Given the description of an element on the screen output the (x, y) to click on. 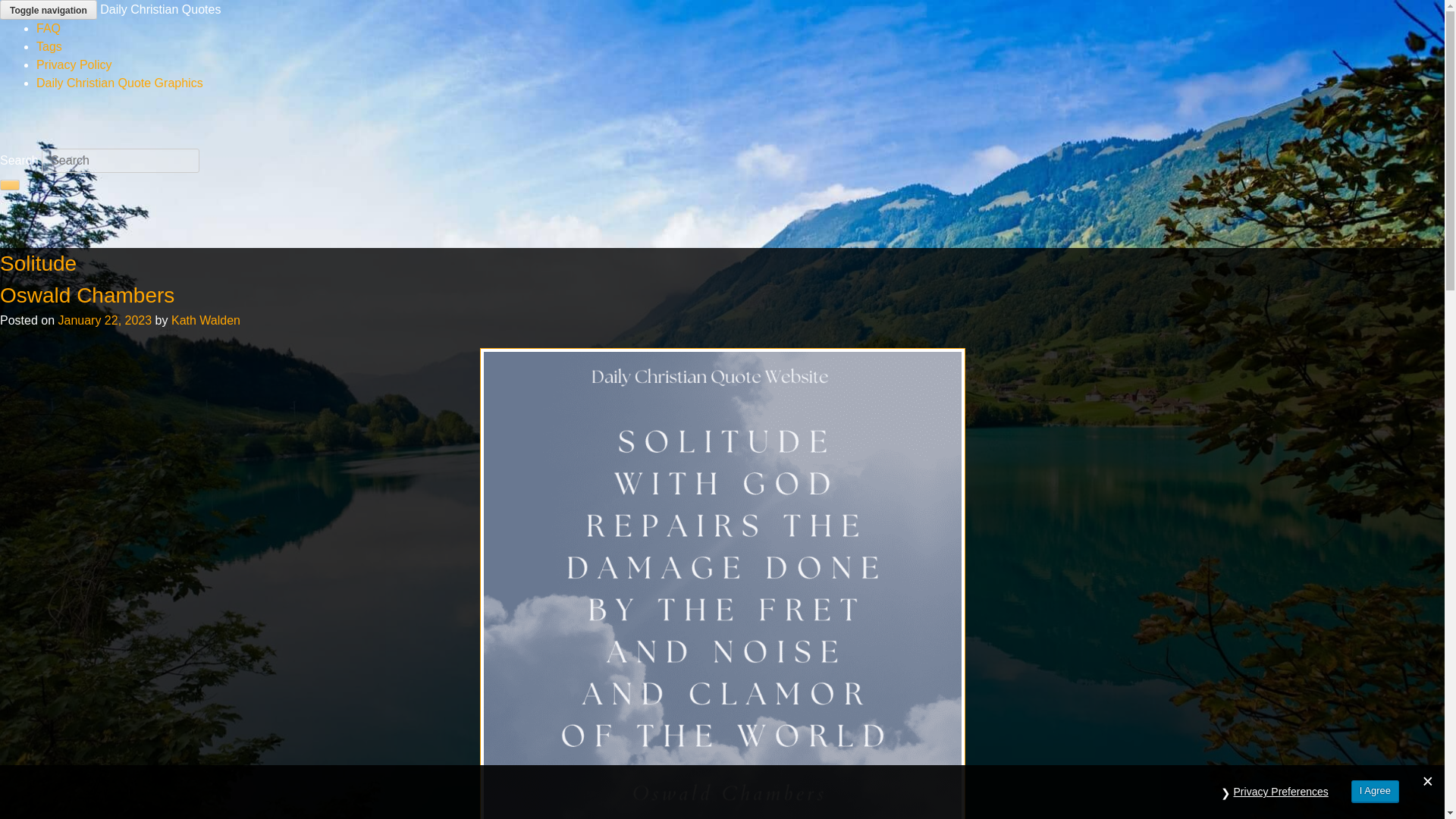
January 22, 2023 (104, 319)
Toggle navigation (48, 9)
Kath Walden (205, 319)
Privacy Policy (74, 64)
Daily Christian Quotes (160, 9)
FAQ (48, 28)
Daily Christian Quote Graphics (119, 82)
Tags (49, 46)
Oswald Chambers (87, 295)
